Given the description of an element on the screen output the (x, y) to click on. 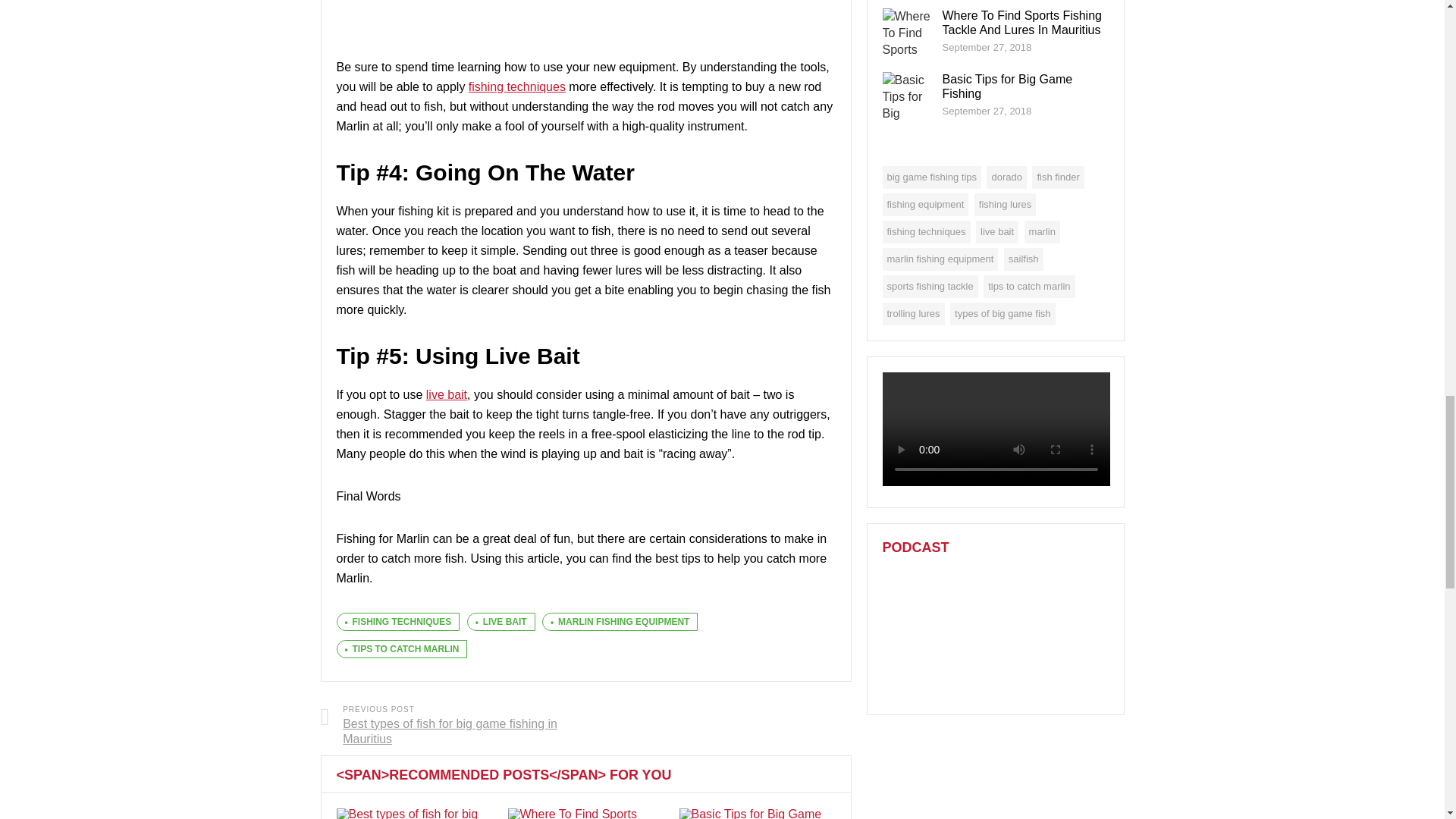
live bait (446, 394)
MARLIN FISHING EQUIPMENT (619, 621)
LIVE BAIT (501, 621)
TIPS TO CATCH MARLIN (401, 648)
FISHING TECHNIQUES (398, 621)
fishing techniques (517, 86)
